Given the description of an element on the screen output the (x, y) to click on. 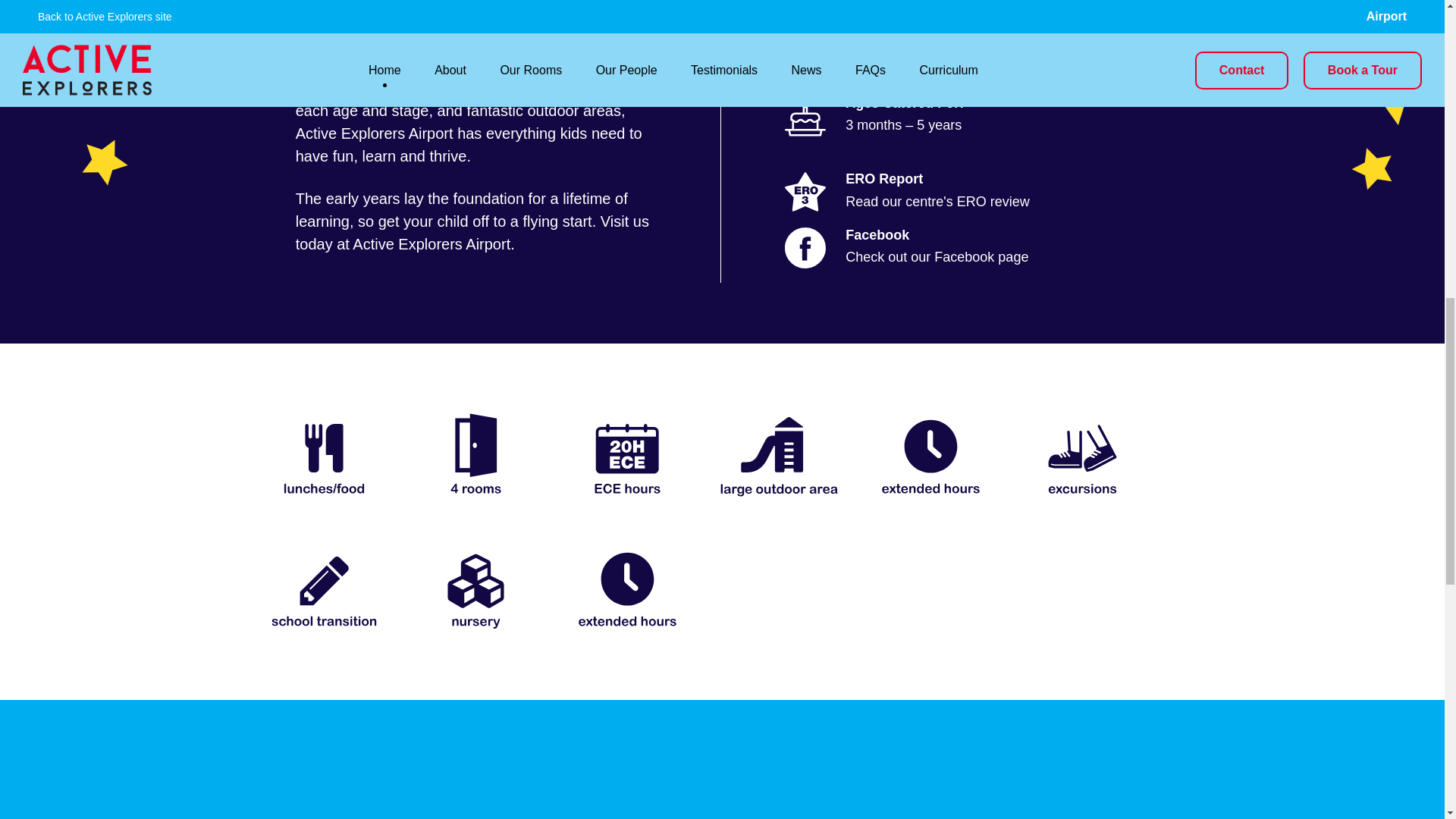
Transition to school (323, 587)
ECE Hours (627, 455)
Visit us today (472, 232)
Extended Hours (627, 587)
4 Rooms (475, 455)
Facebook page (980, 256)
ERO review (992, 201)
Large outdoor area (779, 455)
Extended Hours (930, 455)
Excursions (1082, 455)
